Given the description of an element on the screen output the (x, y) to click on. 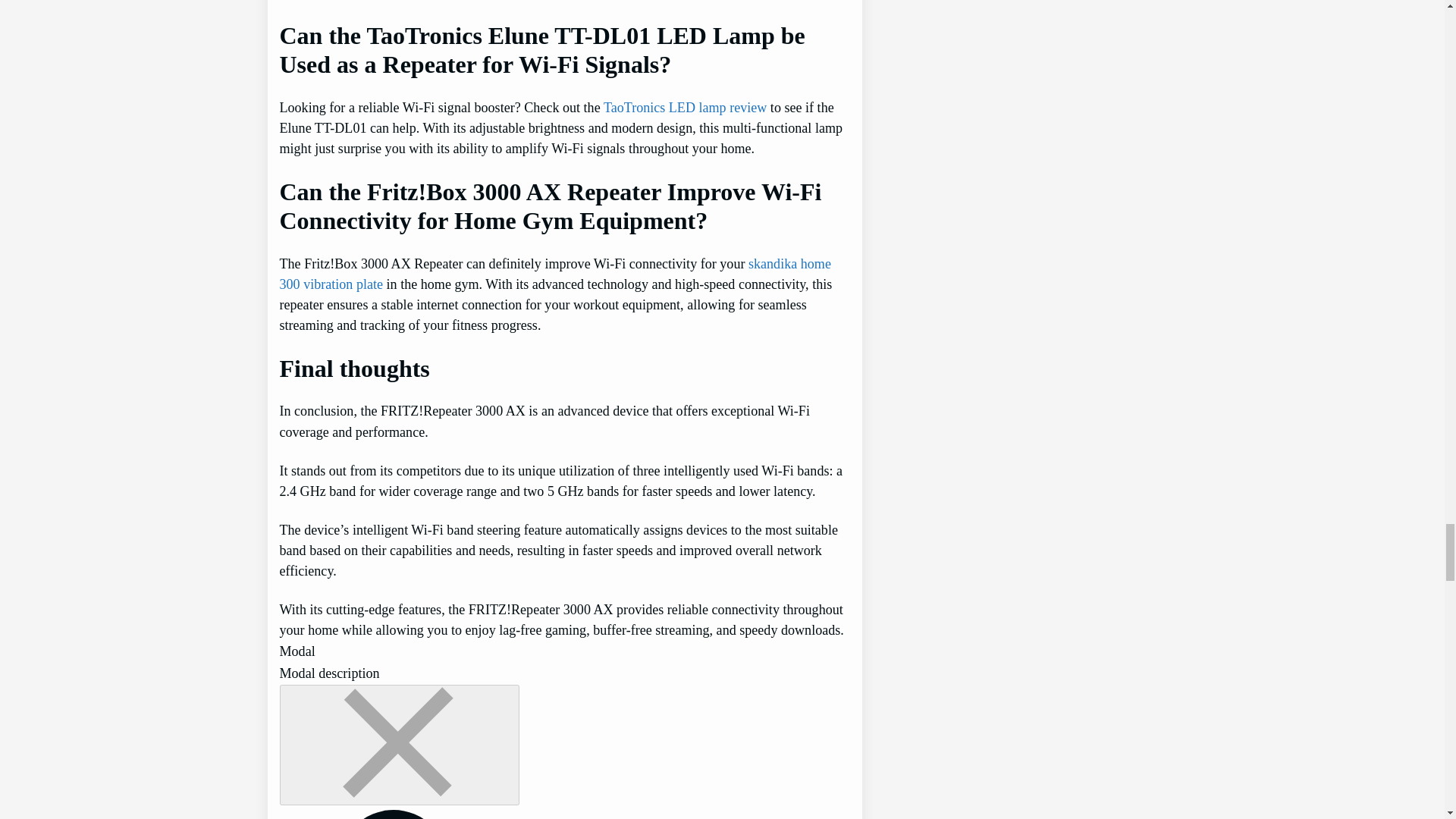
skandika home 300 vibration plate (554, 273)
TaoTronics LED lamp review (685, 107)
